Given the description of an element on the screen output the (x, y) to click on. 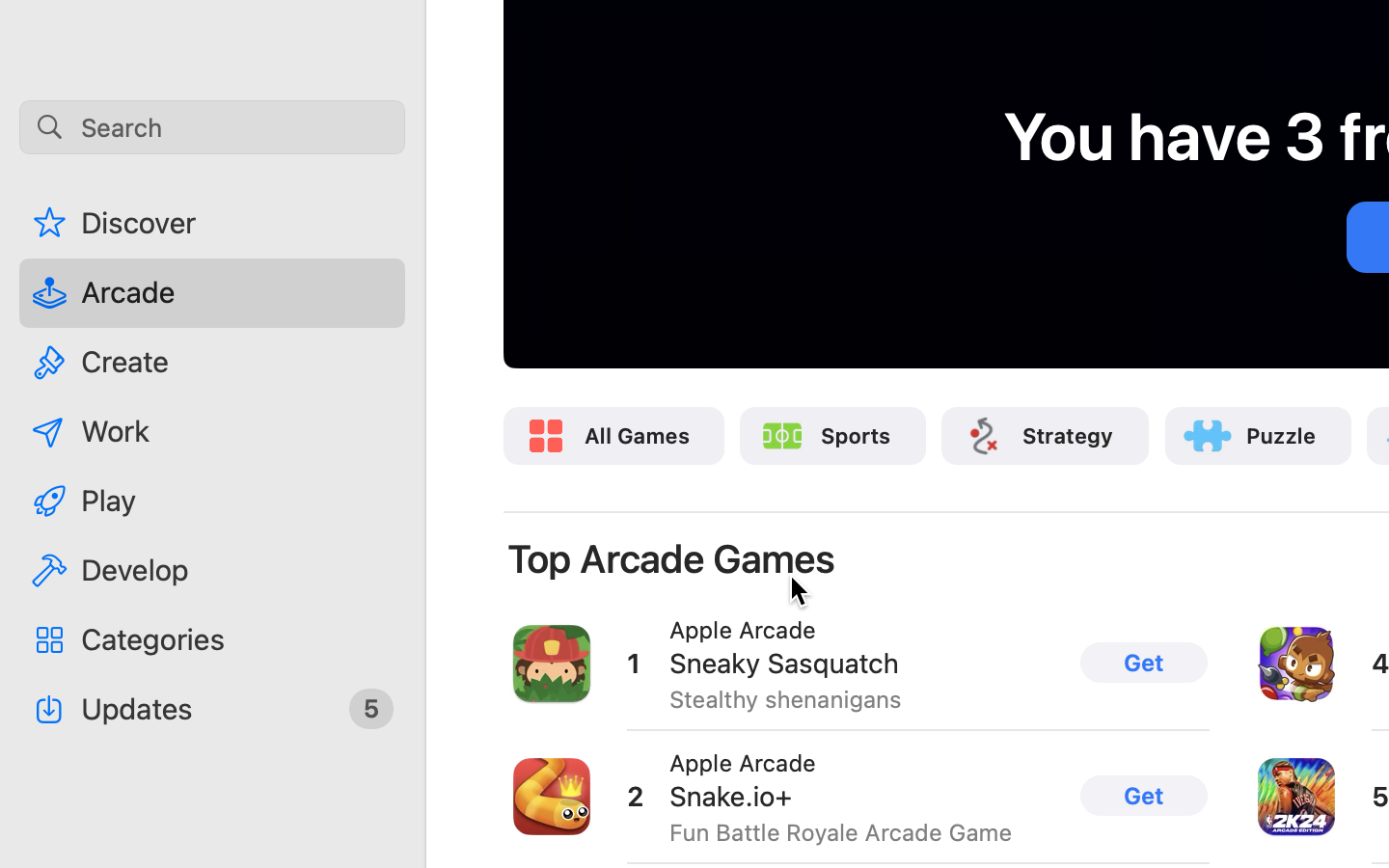
Puzzle Element type: AXStaticText (1281, 435)
Sports Element type: AXStaticText (855, 435)
All Games Element type: AXStaticText (637, 435)
Strategy Element type: AXStaticText (1068, 435)
